Given the description of an element on the screen output the (x, y) to click on. 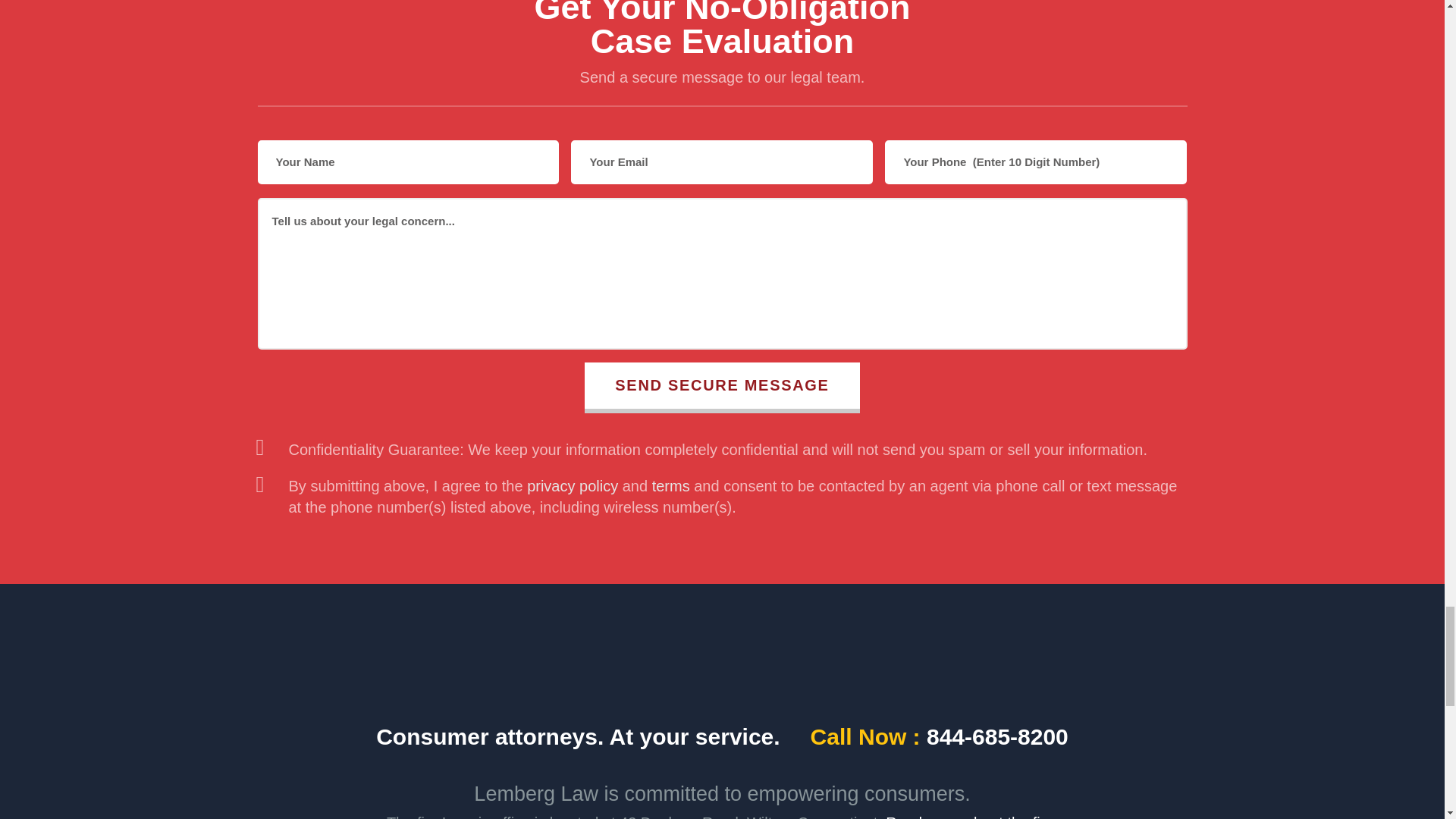
terms (671, 485)
Read more about the firm (971, 814)
privacy policy (572, 485)
SEND SECURE MESSAGE (722, 387)
844-685-8200 (997, 736)
SEND SECURE MESSAGE (722, 387)
